Given the description of an element on the screen output the (x, y) to click on. 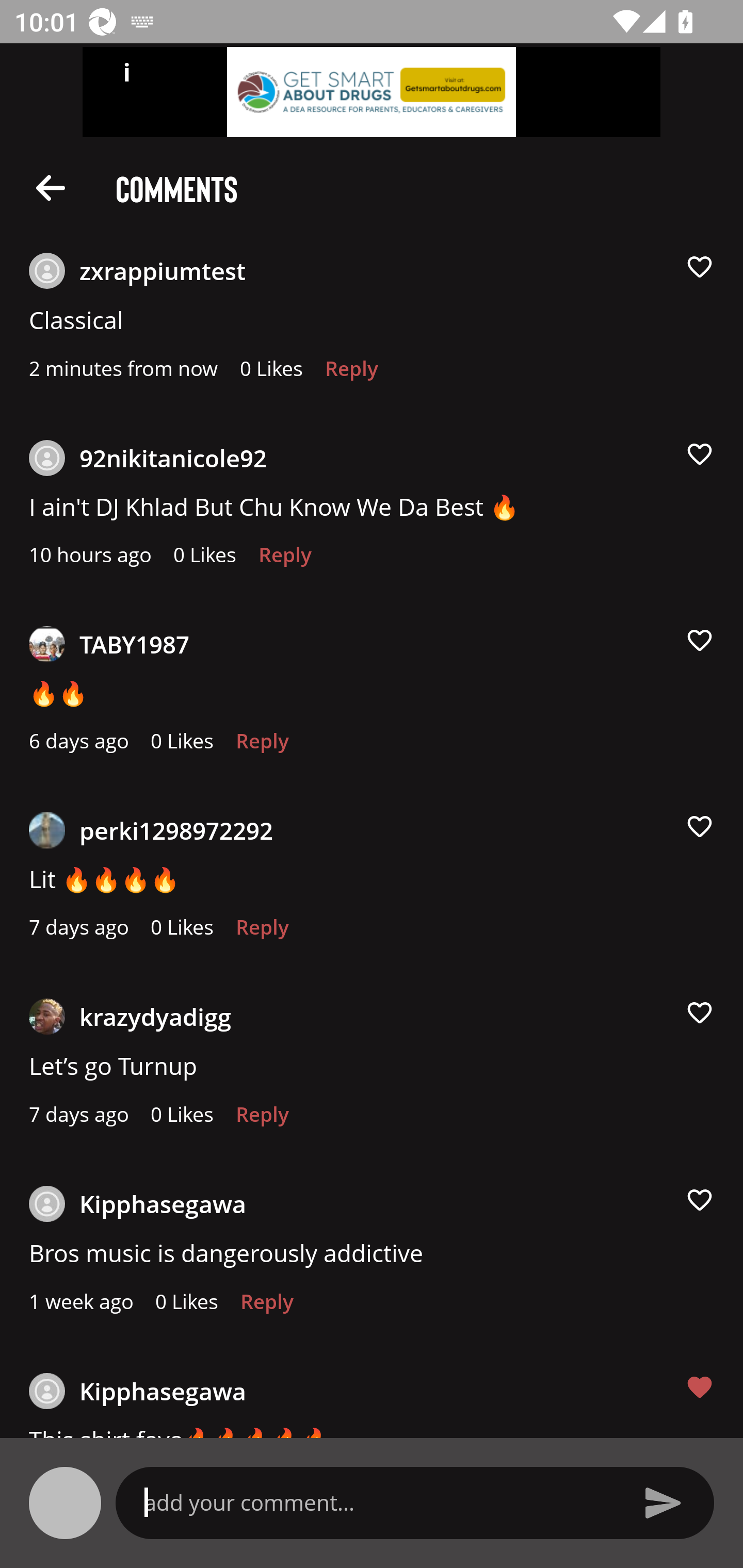
Description (50, 187)
Reply (351, 372)
Reply (285, 559)
Reply (261, 746)
Reply (261, 932)
Reply (261, 1119)
Reply (266, 1306)
add your comment… (378, 1502)
